Given the description of an element on the screen output the (x, y) to click on. 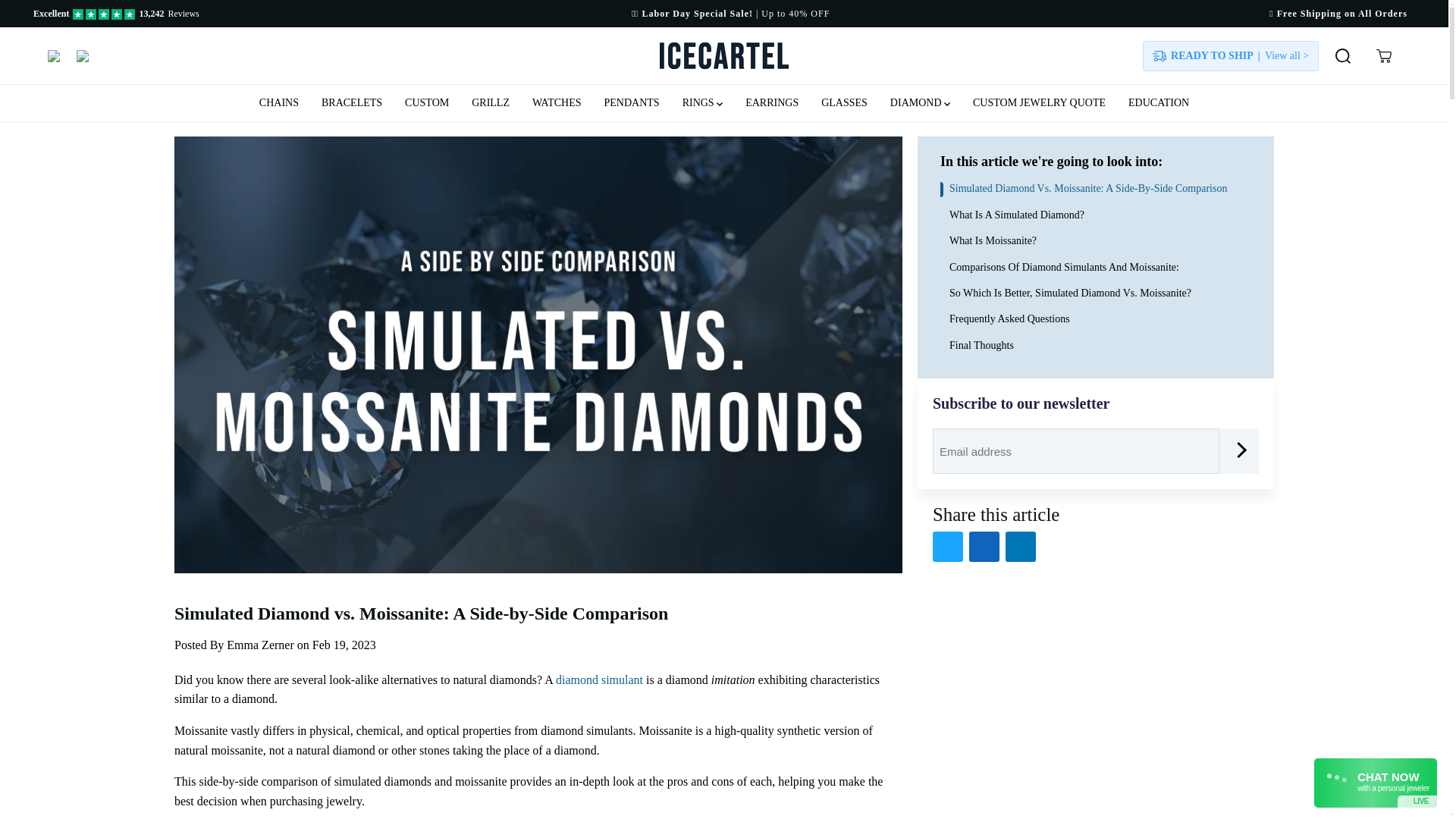
Cart (1383, 55)
Diamond Simulant Wikipedia (599, 679)
SKIP TO CONTENT (60, 18)
Search (1342, 55)
